Given the description of an element on the screen output the (x, y) to click on. 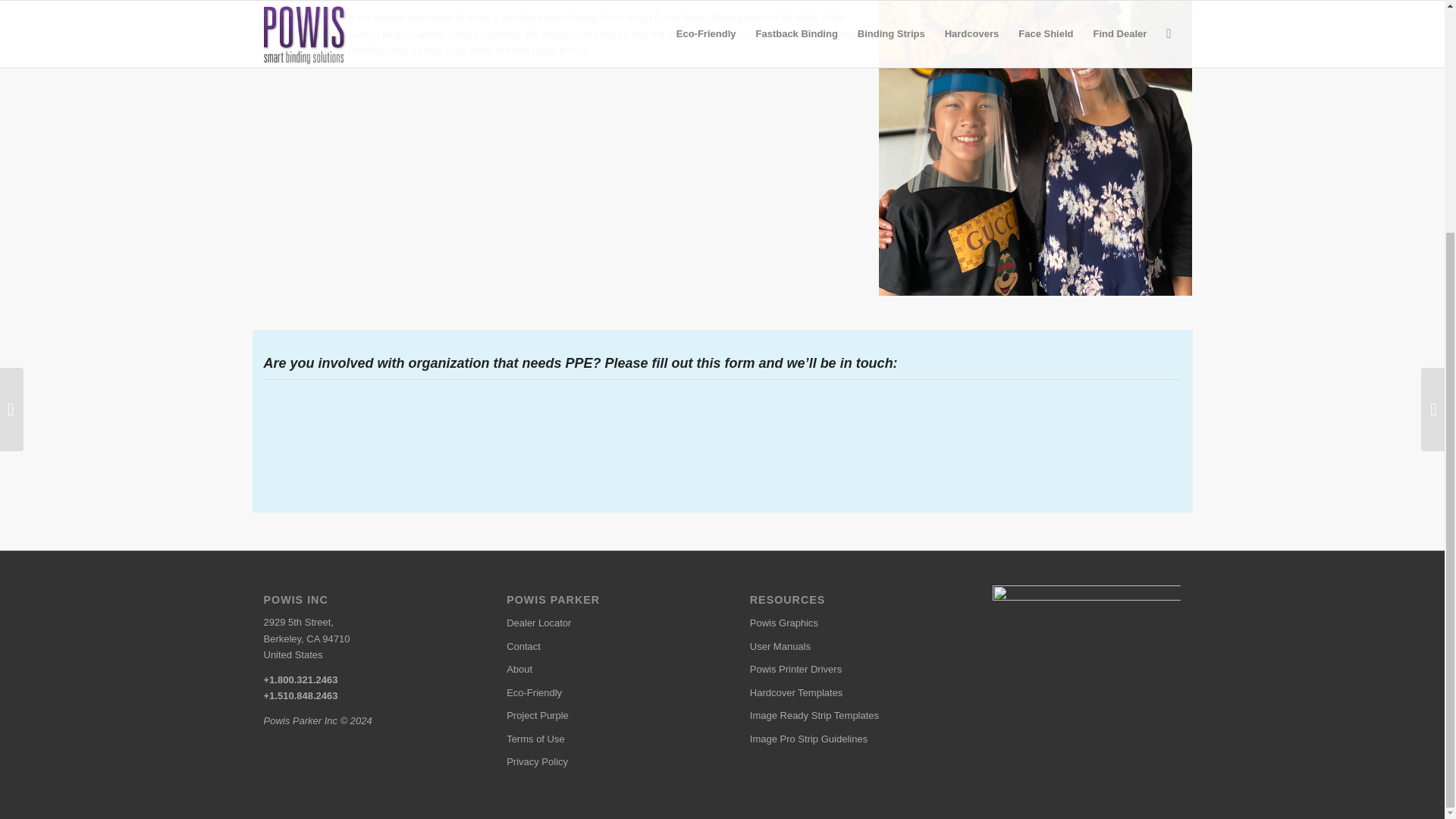
Terms of Use (600, 739)
Privacy Policy (600, 762)
Image Pro Strip Guidelines (843, 739)
Hardcover Templates (843, 692)
Dealer Locator (600, 622)
User Manuals (843, 646)
Powis Printer Drivers (843, 669)
Image Ready Strip Templates (843, 715)
About (600, 669)
Powis Graphics (843, 622)
